Given the description of an element on the screen output the (x, y) to click on. 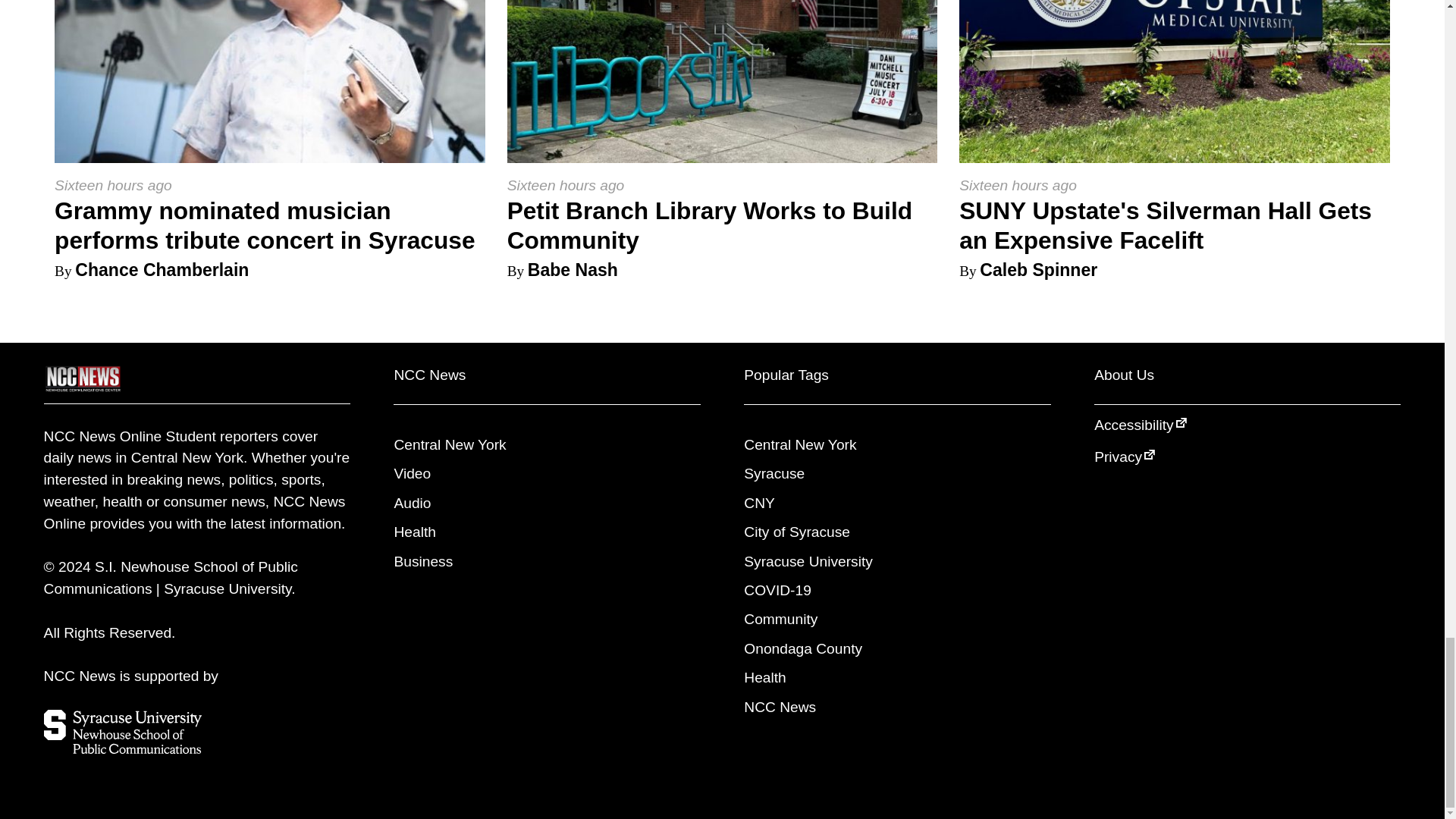
Community (780, 618)
Video (411, 473)
CNY (759, 503)
City of Syracuse (797, 531)
Onondaga County (802, 648)
COVID-19 (777, 590)
Audio (411, 503)
Health (765, 677)
SUNY Upstate's Silverman Hall Gets an Expensive Facelift (1165, 225)
Petit Branch Library Works to Build Community (709, 225)
NCC News (779, 706)
Syracuse (774, 473)
Accessibility (1148, 424)
Health (414, 531)
